Given the description of an element on the screen output the (x, y) to click on. 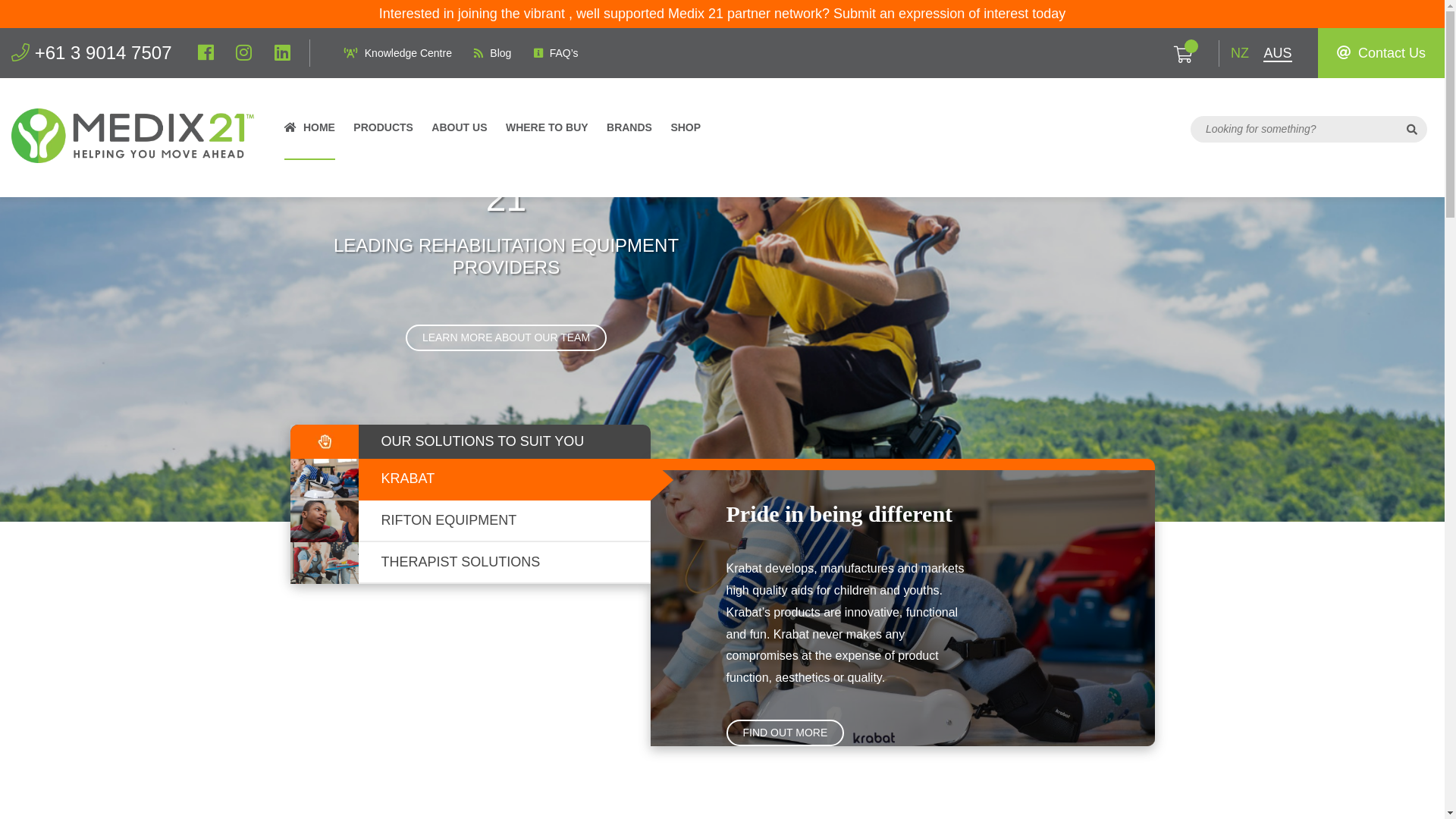
HOME Element type: text (309, 134)
PRODUCTS Element type: text (383, 134)
NZ Element type: text (1239, 53)
SHOP Element type: text (685, 134)
AUS Element type: text (1277, 53)
RIFTON EQUIPMENT Element type: text (469, 521)
Looking for something? Element type: hover (1293, 129)
KRABAT Element type: text (469, 479)
ABOUT US Element type: text (458, 134)
+61 3 9014 7507 Element type: text (91, 53)
THERAPIST SOLUTIONS Element type: text (469, 562)
Search Element type: text (1411, 129)
WHERE TO BUY Element type: text (546, 134)
LEARN MORE ABOUT OUR TEAM Element type: text (505, 337)
BRANDS Element type: text (629, 134)
Blog Element type: text (492, 53)
FIND OUT MORE Element type: text (785, 732)
Knowledge Centre Element type: text (397, 53)
Contact Us Element type: text (1380, 53)
